Given the description of an element on the screen output the (x, y) to click on. 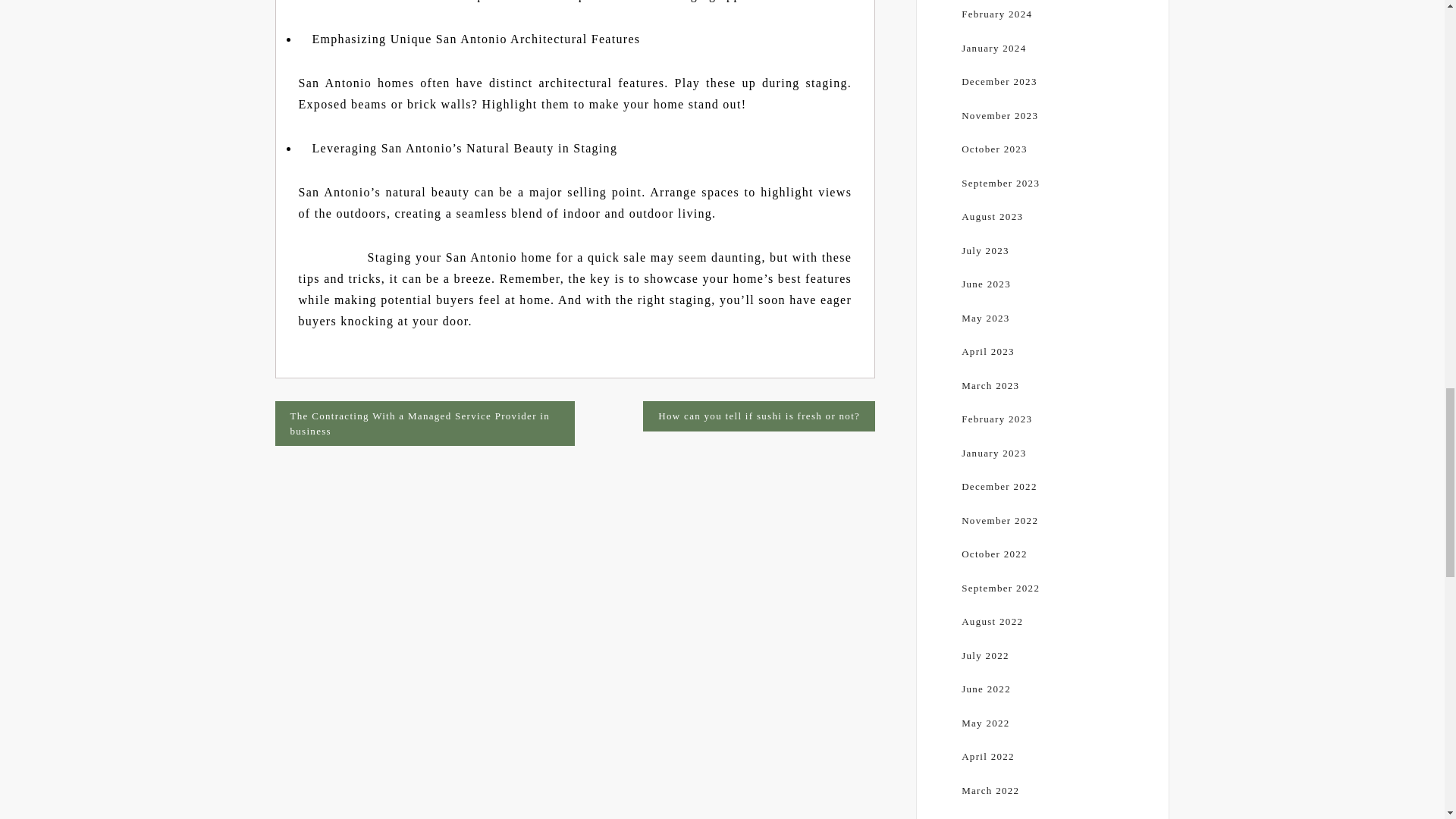
July 2023 (984, 250)
March 2023 (989, 385)
How can you tell if sushi is fresh or not? (759, 416)
August 2023 (991, 215)
December 2023 (998, 81)
The Contracting With a Managed Service Provider in business (425, 423)
February 2023 (996, 419)
May 2023 (984, 317)
April 2023 (987, 351)
February 2024 (996, 13)
January 2023 (993, 452)
September 2023 (999, 183)
November 2023 (999, 115)
October 2023 (993, 148)
June 2023 (985, 283)
